Given the description of an element on the screen output the (x, y) to click on. 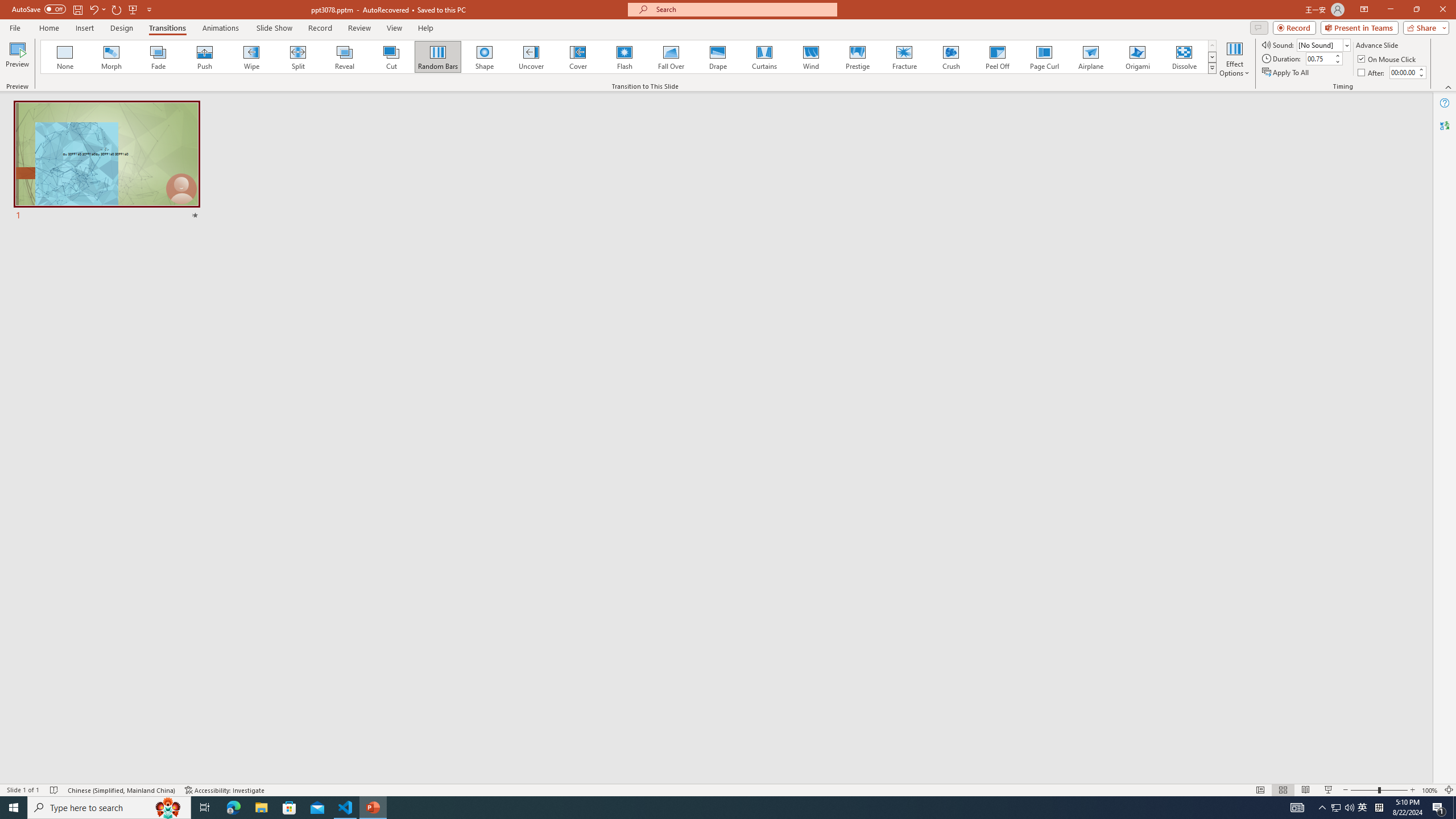
Crush (950, 56)
Uncover (531, 56)
Page Curl (1043, 56)
Random Bars (437, 56)
